Given the description of an element on the screen output the (x, y) to click on. 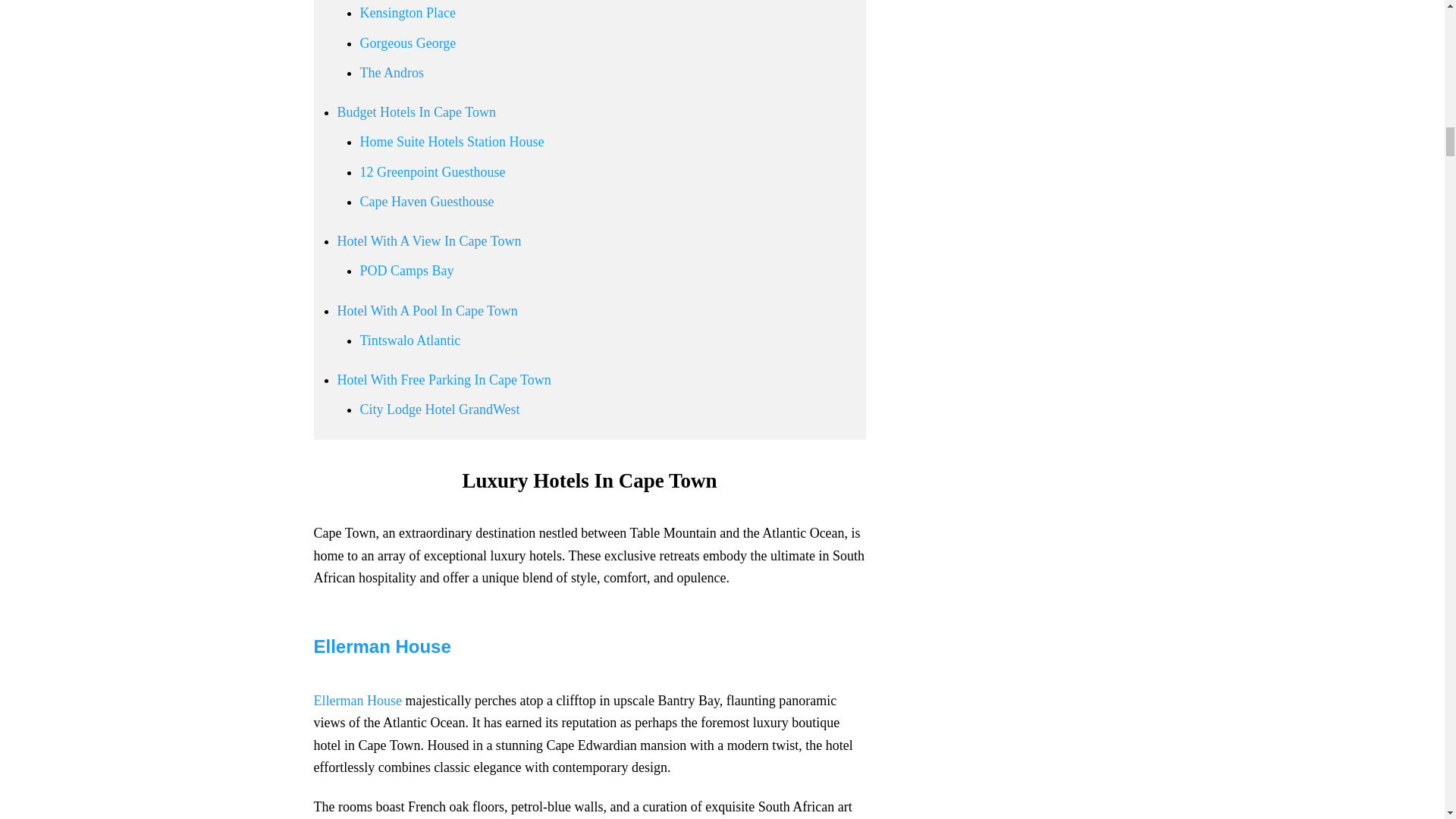
Ellerman House Cape Town (382, 646)
Ellerman House Cape Town (357, 700)
